Given the description of an element on the screen output the (x, y) to click on. 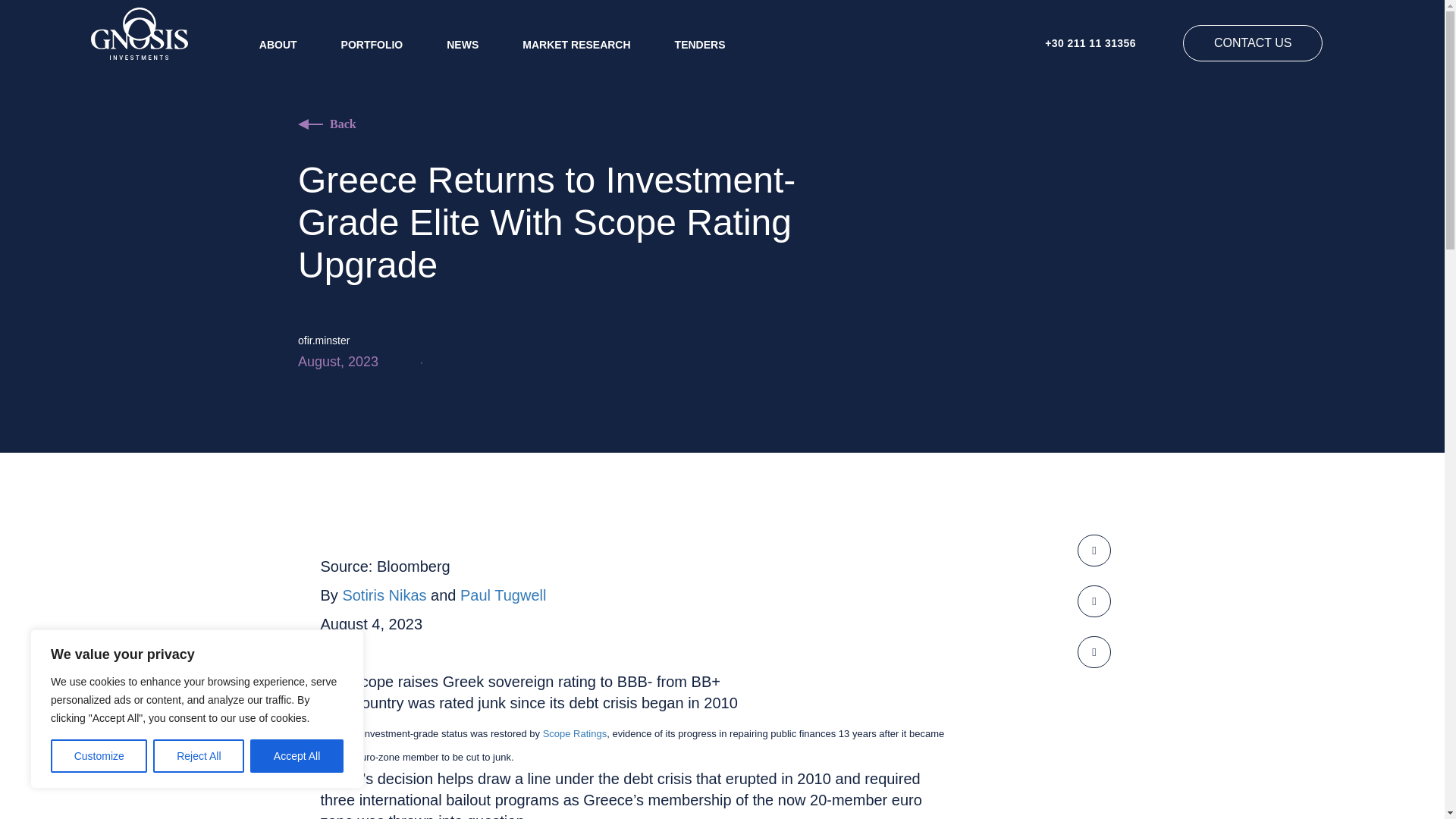
MARKET RESEARCH (576, 44)
Sotiris Nikas (384, 595)
PORTFOLIO (371, 44)
TENDERS (700, 44)
Scope Ratings (575, 733)
Accept All (296, 756)
Greece (336, 733)
CONTACT US (1252, 43)
NEWS (462, 44)
Reject All (198, 756)
Paul Tugwell (503, 595)
Customize (98, 756)
ABOUT (277, 44)
